Given the description of an element on the screen output the (x, y) to click on. 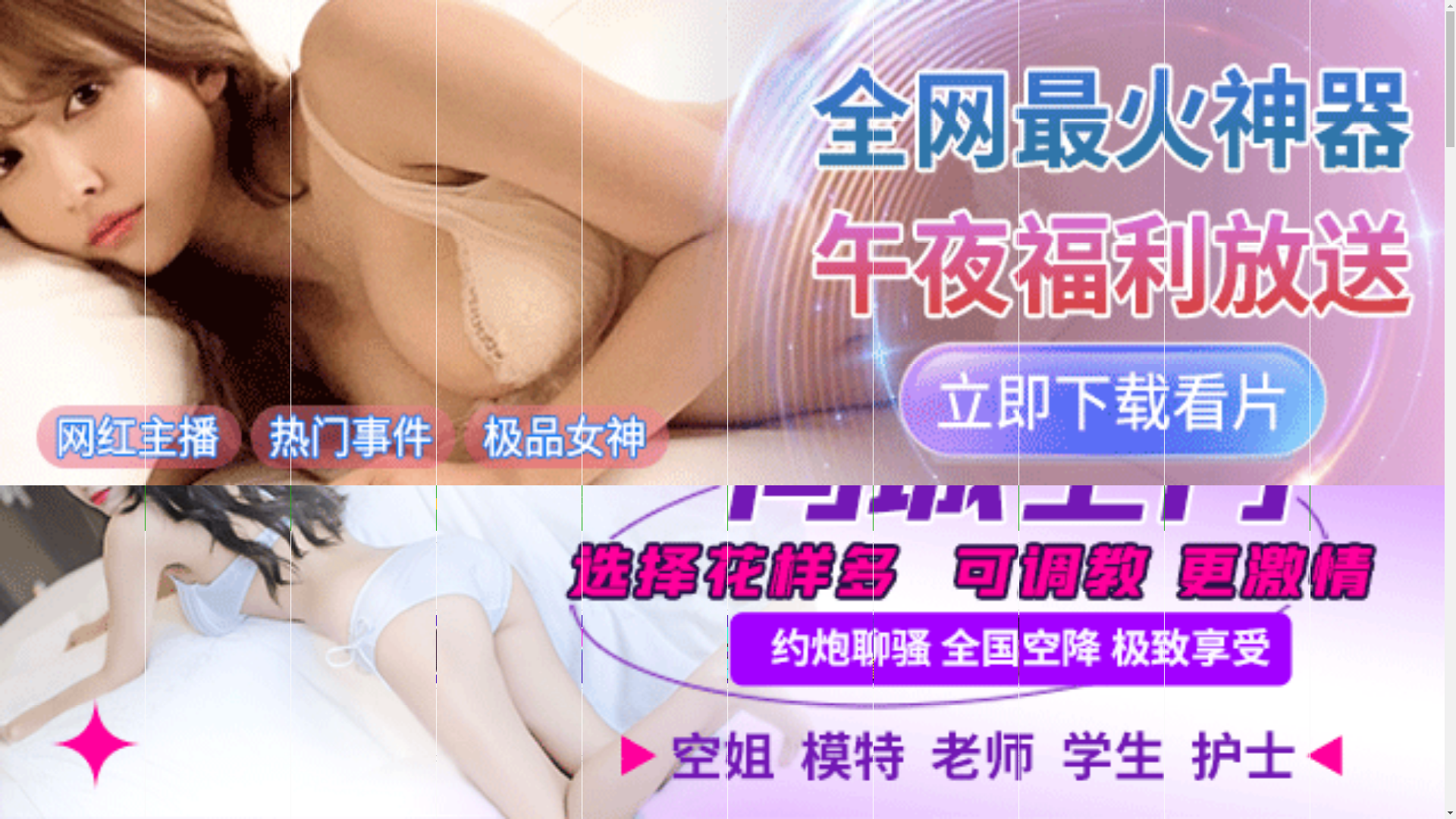
www.xmkk5.com Element type: text (693, 515)
Www.17171pk.Com Element type: text (412, 503)
